Given the description of an element on the screen output the (x, y) to click on. 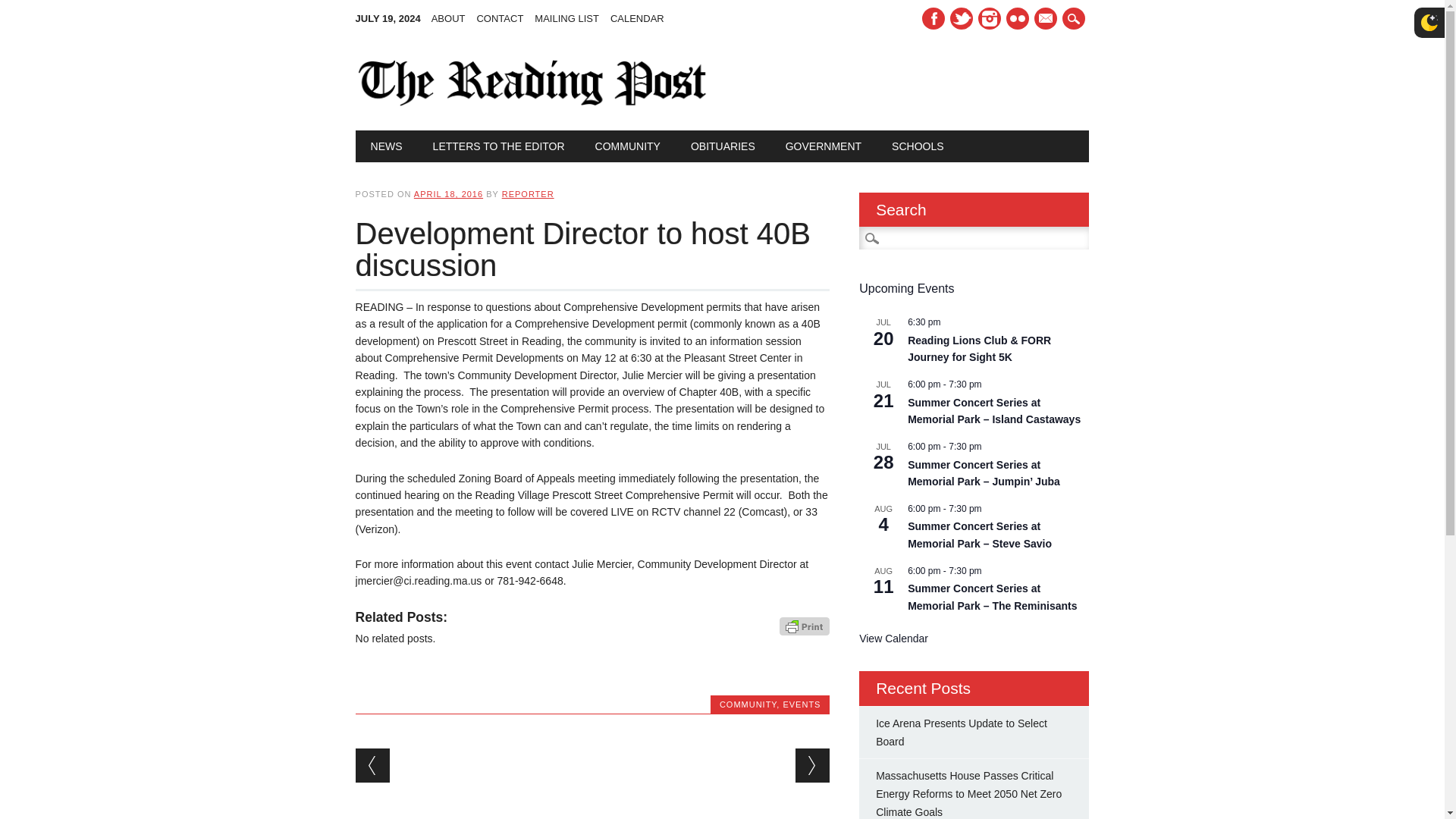
COMMUNITY (627, 146)
The Reading Post (532, 102)
Instagram (1017, 18)
View more events. (893, 638)
CALENDAR (642, 18)
Twitter (961, 18)
CONTACT (505, 18)
GOVERNMENT (823, 146)
View all posts by Reporter (528, 194)
LETTERS TO THE EDITOR (498, 146)
E-mail (1045, 18)
Facebook (932, 18)
ABOUT (453, 18)
OBITUARIES (722, 146)
Instagram (989, 18)
